Given the description of an element on the screen output the (x, y) to click on. 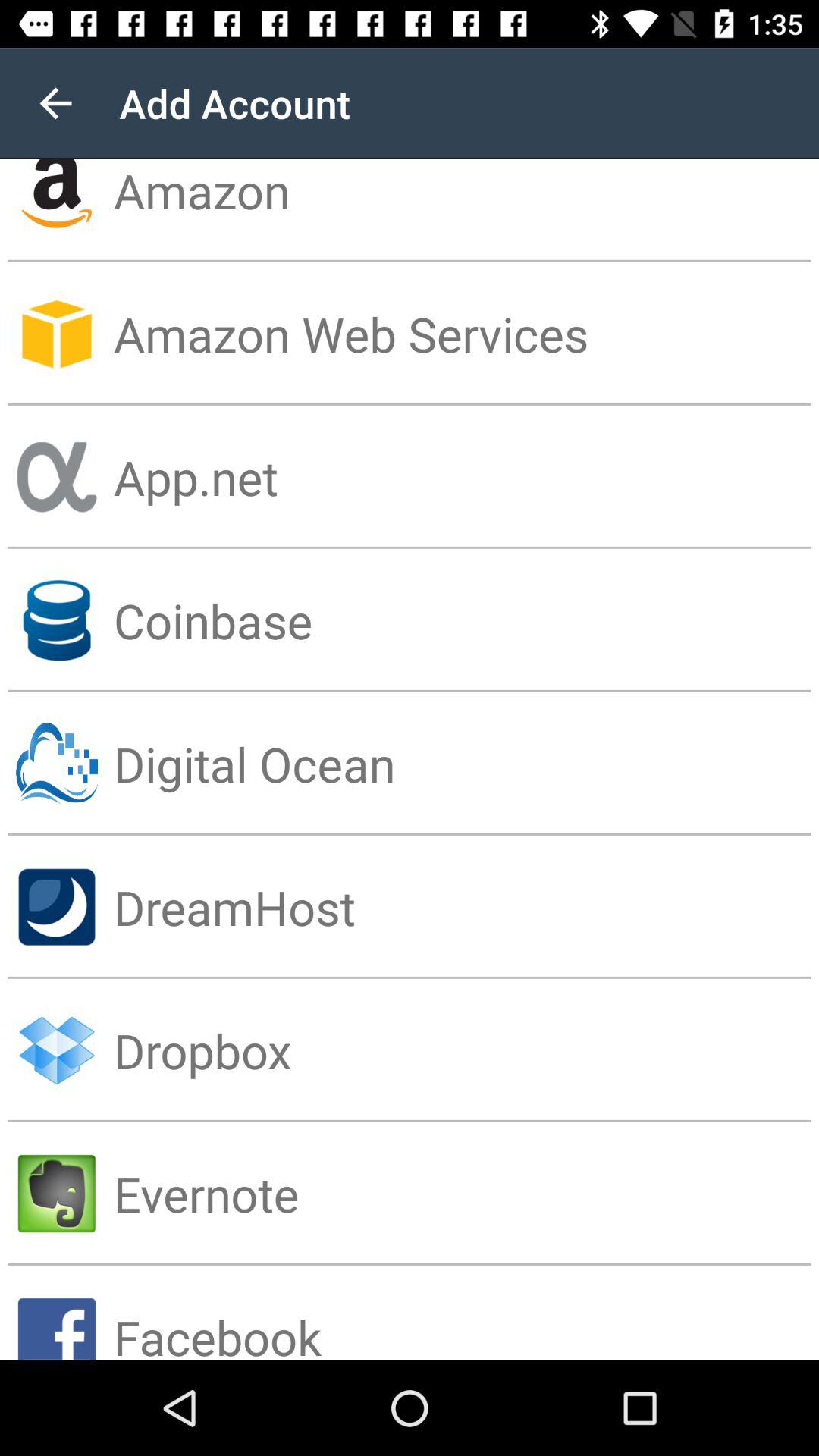
open the digital ocean item (466, 763)
